Given the description of an element on the screen output the (x, y) to click on. 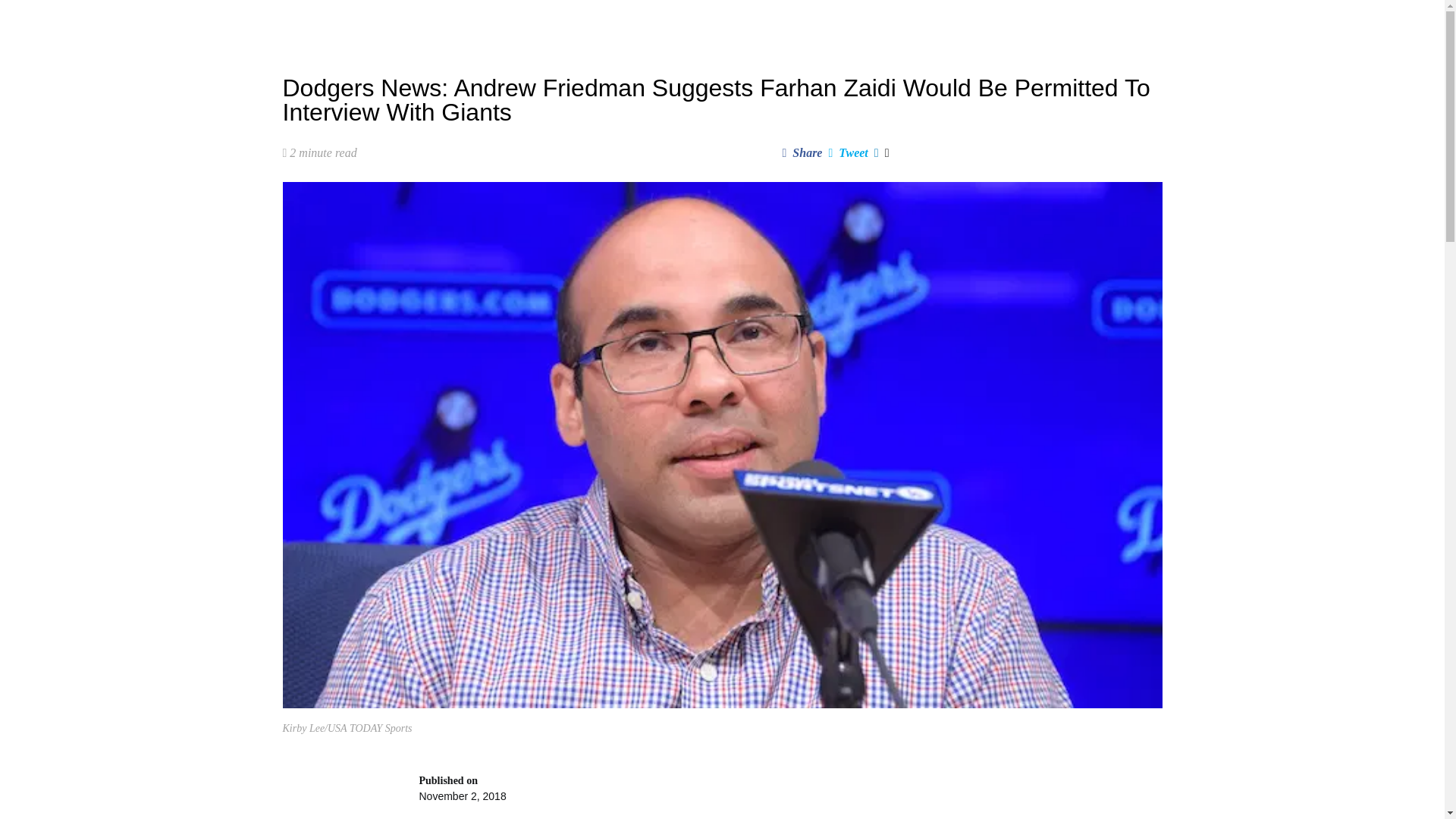
Dodger Blue (322, 22)
Rumors (513, 22)
Dodgers News (440, 22)
Team (640, 22)
Andrew Friedman, Farhan Zaidi address World Series loss (789, 796)
Schedules (578, 22)
